Given the description of an element on the screen output the (x, y) to click on. 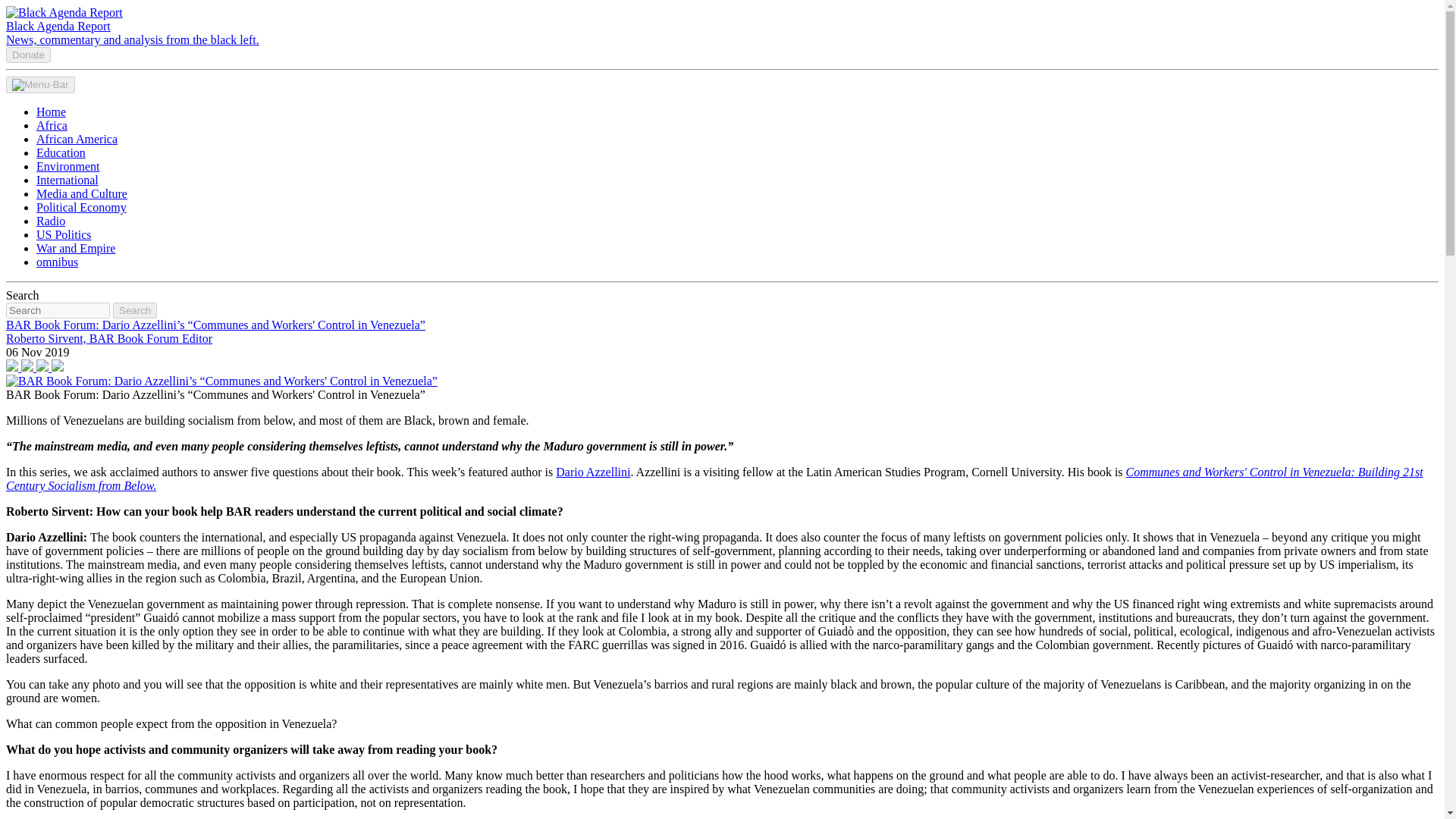
Search (135, 310)
Donate (27, 54)
US Politics (63, 234)
Radio (50, 220)
omnibus (57, 261)
International (67, 179)
Home (50, 111)
War and Empire (75, 247)
Education (60, 152)
Environment (68, 165)
Dario Azzellini (593, 472)
Roberto Sirvent, BAR Book Forum Editor (108, 338)
Media and Culture (82, 193)
Political Economy (81, 206)
